Given the description of an element on the screen output the (x, y) to click on. 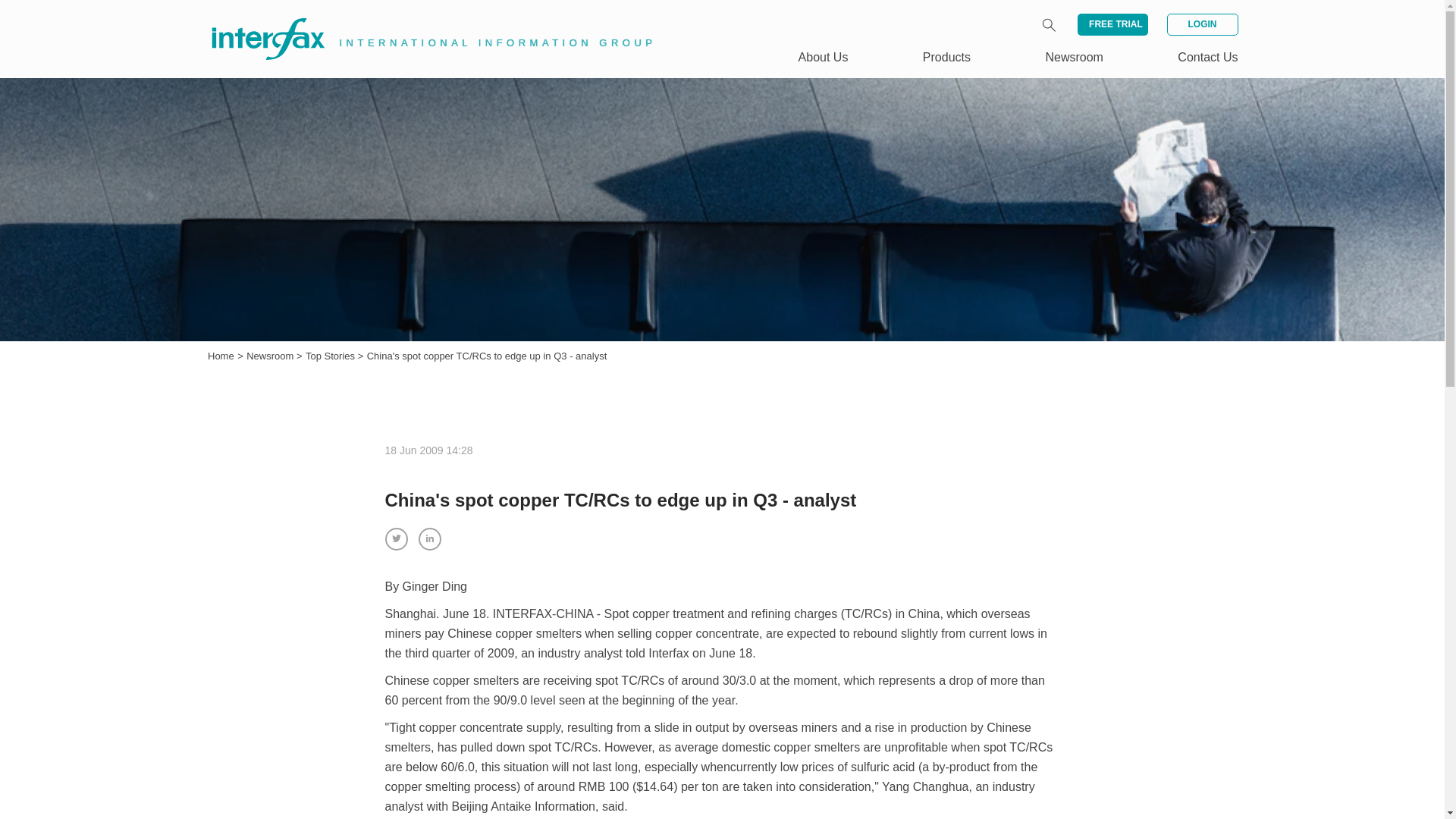
INTERNATIONAL INFORMATION GROUP (421, 20)
Contact Us (1207, 56)
Newsroom (271, 355)
LOGIN (1201, 24)
FREE TRIAL (1112, 24)
Contact Us (1207, 56)
Home (221, 355)
Top Stories (331, 355)
Newsroom (271, 355)
Newsroom (1073, 56)
